Given the description of an element on the screen output the (x, y) to click on. 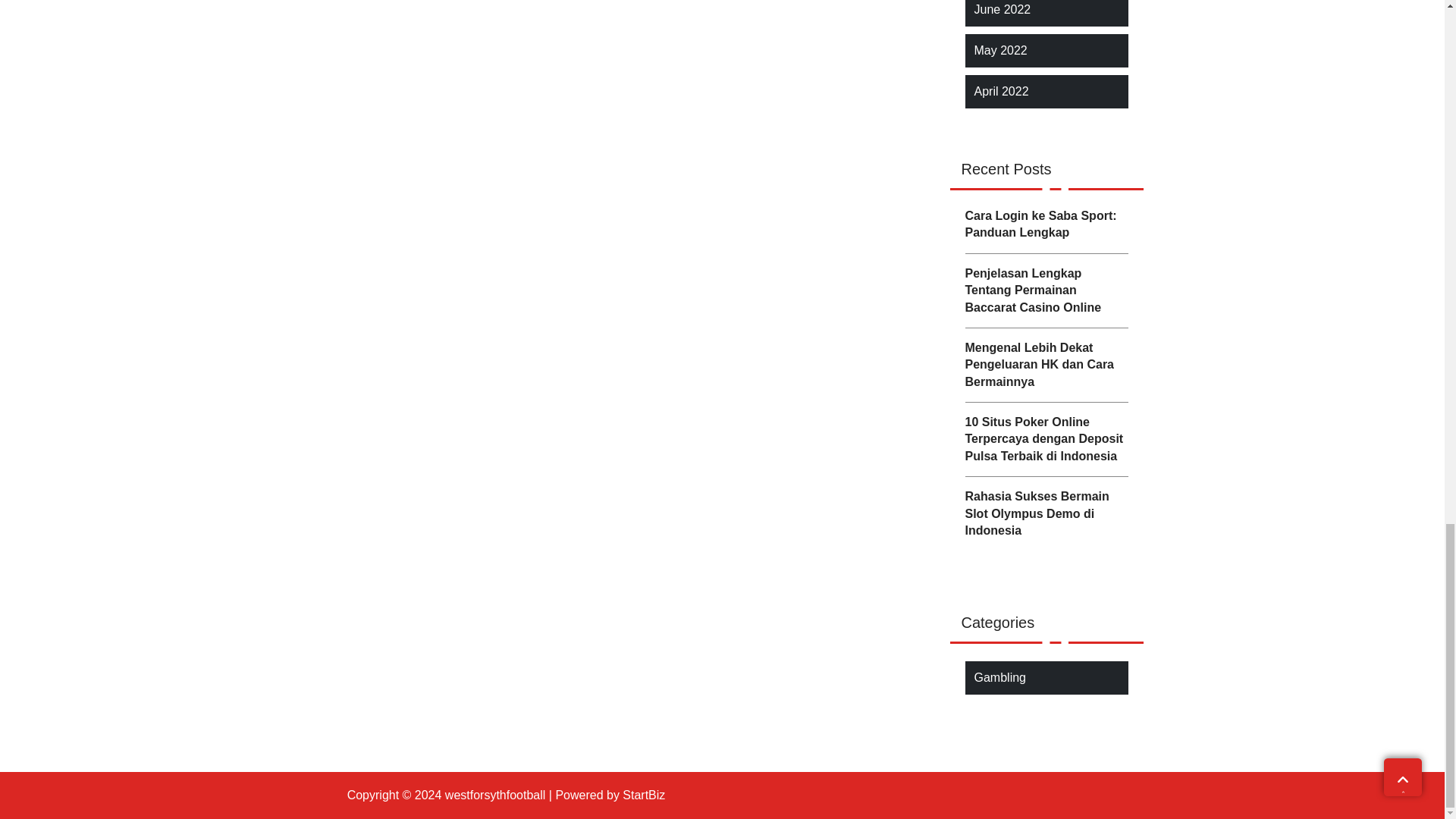
Cara Login ke Saba Sport: Panduan Lengkap (1044, 224)
June 2022 (1002, 9)
Penjelasan Lengkap Tentang Permainan Baccarat Casino Online (1044, 290)
April 2022 (1000, 91)
May 2022 (1000, 50)
